Given the description of an element on the screen output the (x, y) to click on. 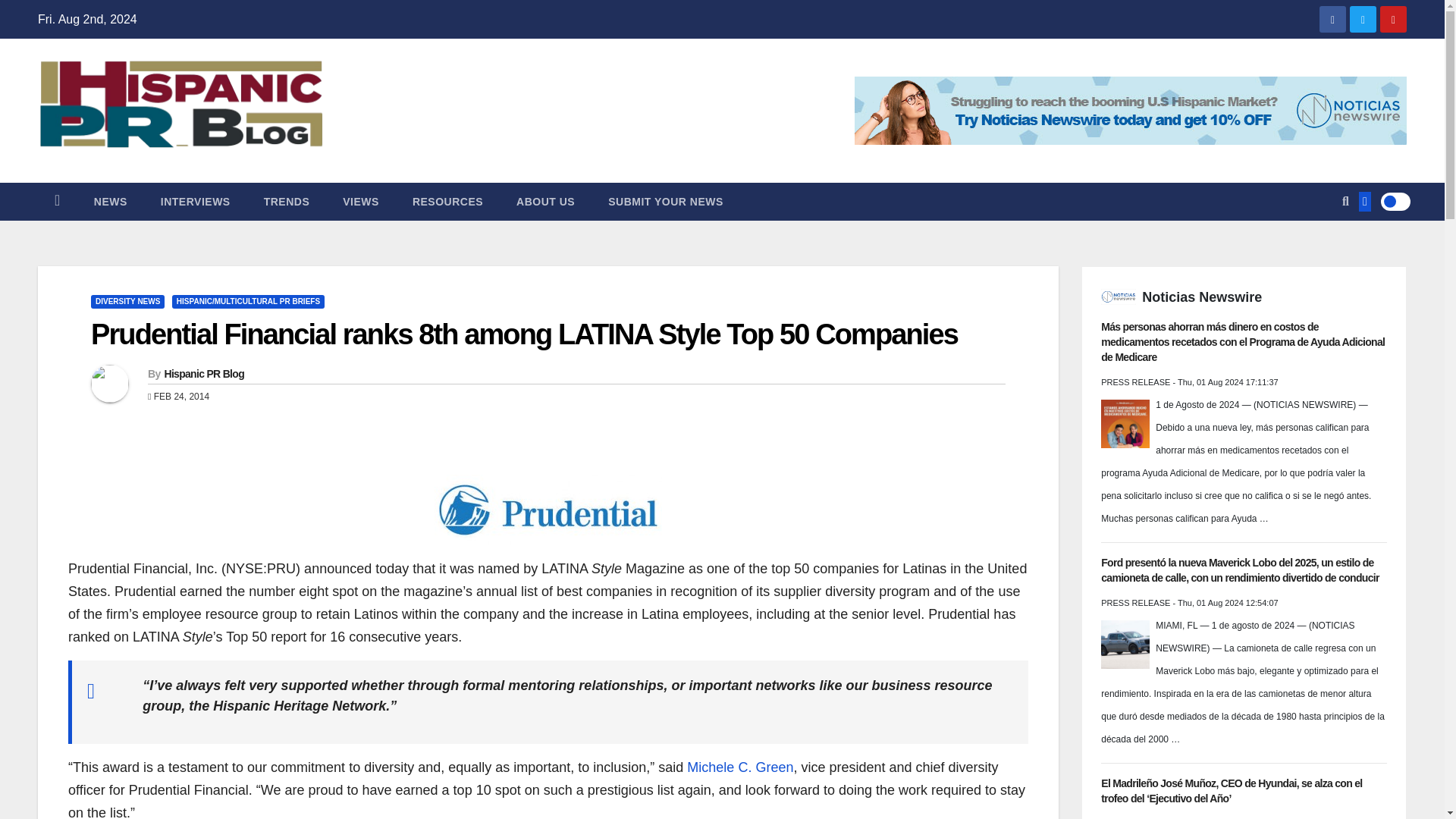
VIEWS (361, 201)
Home (57, 201)
RESOURCES (447, 201)
Trends (286, 201)
Interviews (195, 201)
NEWS (110, 201)
INTERVIEWS (195, 201)
TRENDS (286, 201)
News (110, 201)
